Given the description of an element on the screen output the (x, y) to click on. 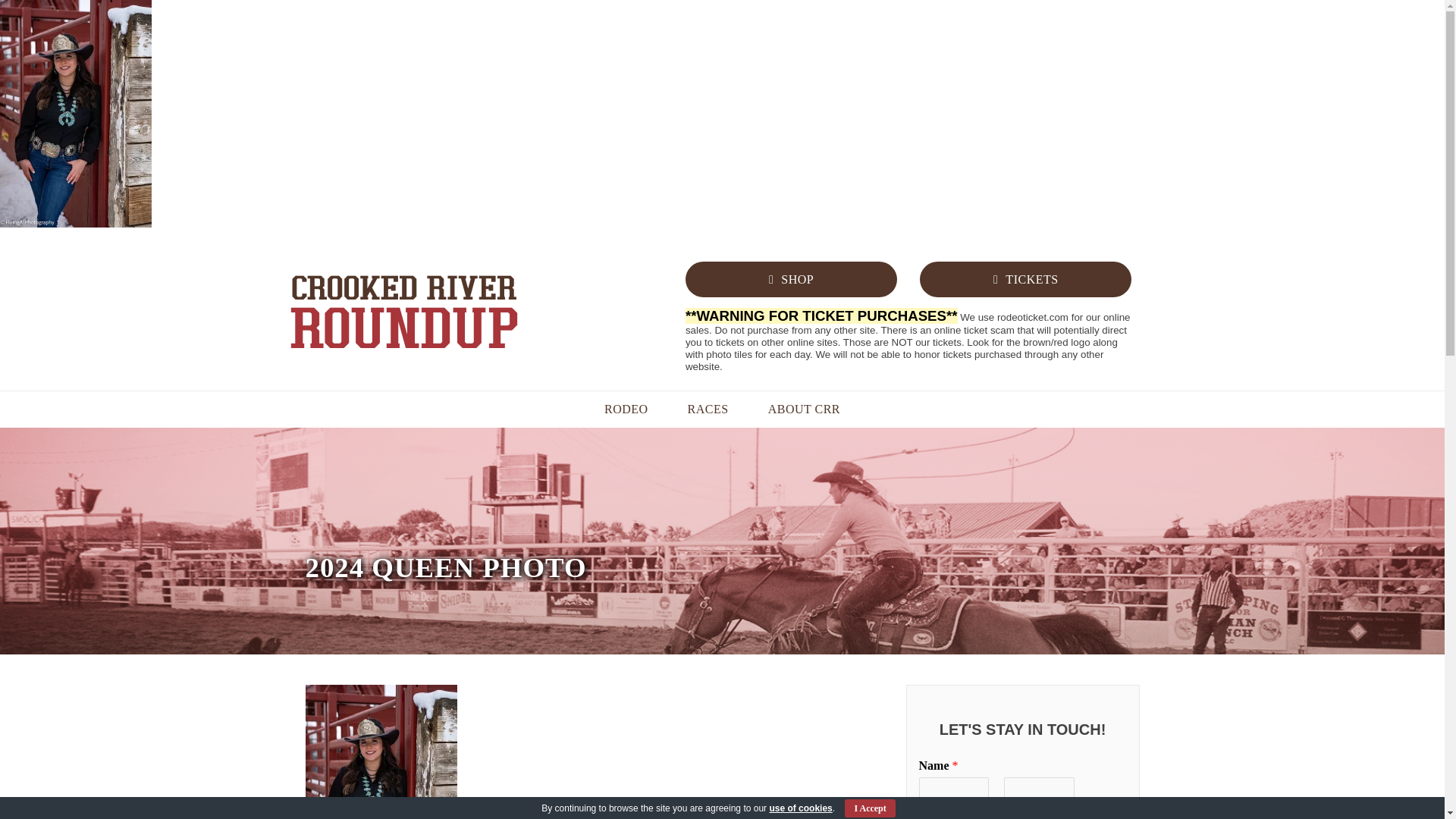
Shop Crooked River Roundup Merchandise (791, 279)
RACES (708, 409)
RODEO (626, 409)
SHOP (791, 279)
TICKETS (1025, 278)
Purchase Tickets for Crooked River Roundup Events (1025, 278)
Crooked River Roundup Home (402, 311)
